Given the description of an element on the screen output the (x, y) to click on. 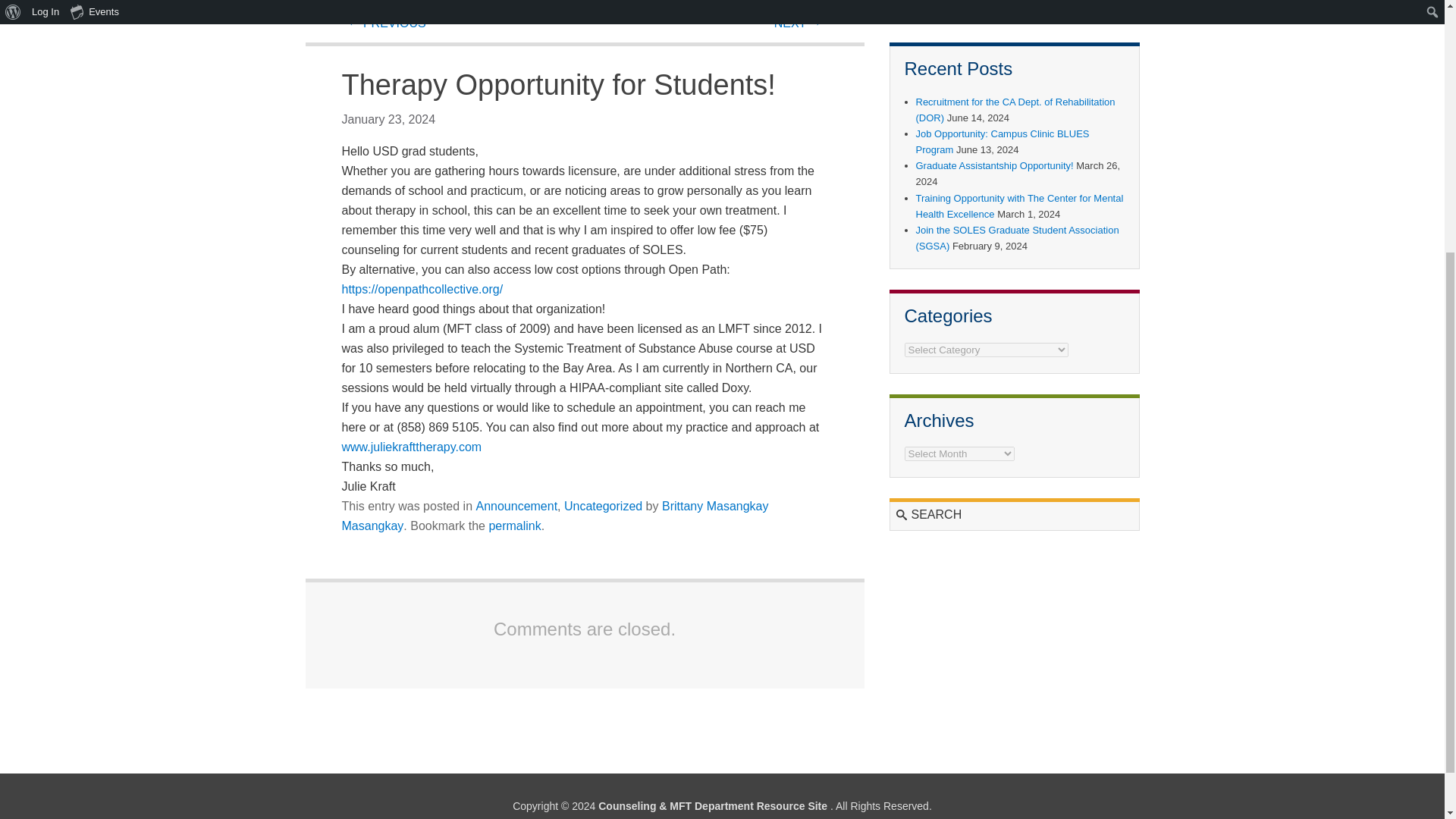
7:10 pm (387, 119)
January 23, 2024 (387, 119)
www.juliekrafttherapy.com (410, 446)
Permalink to Therapy Opportunity for Students! (513, 525)
Announcement (516, 505)
